Given the description of an element on the screen output the (x, y) to click on. 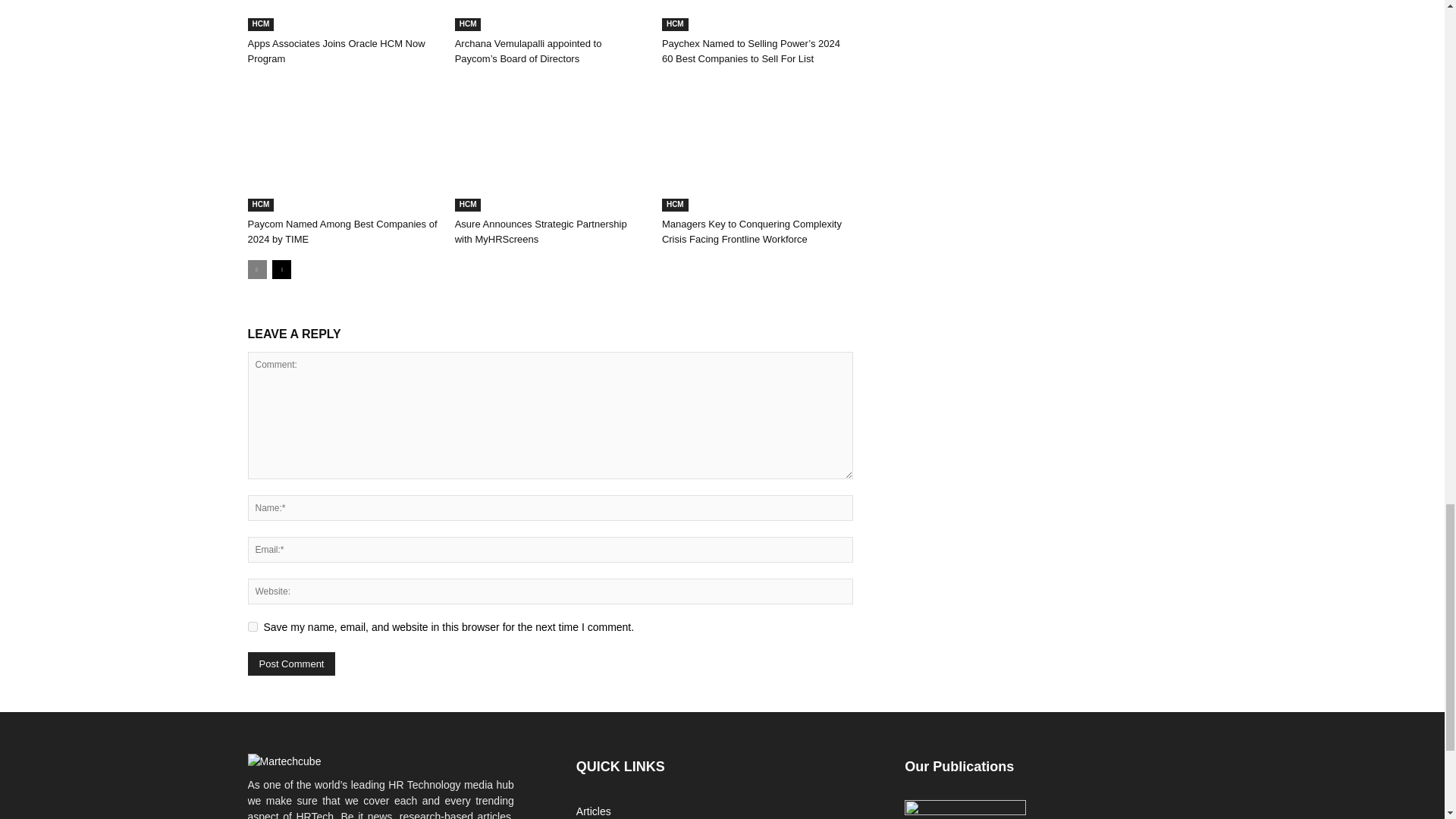
yes (252, 626)
Post Comment (290, 663)
Apps Associates Joins Oracle HCM Now Program (336, 50)
Apps Associates Joins Oracle HCM Now Program (342, 15)
